Given the description of an element on the screen output the (x, y) to click on. 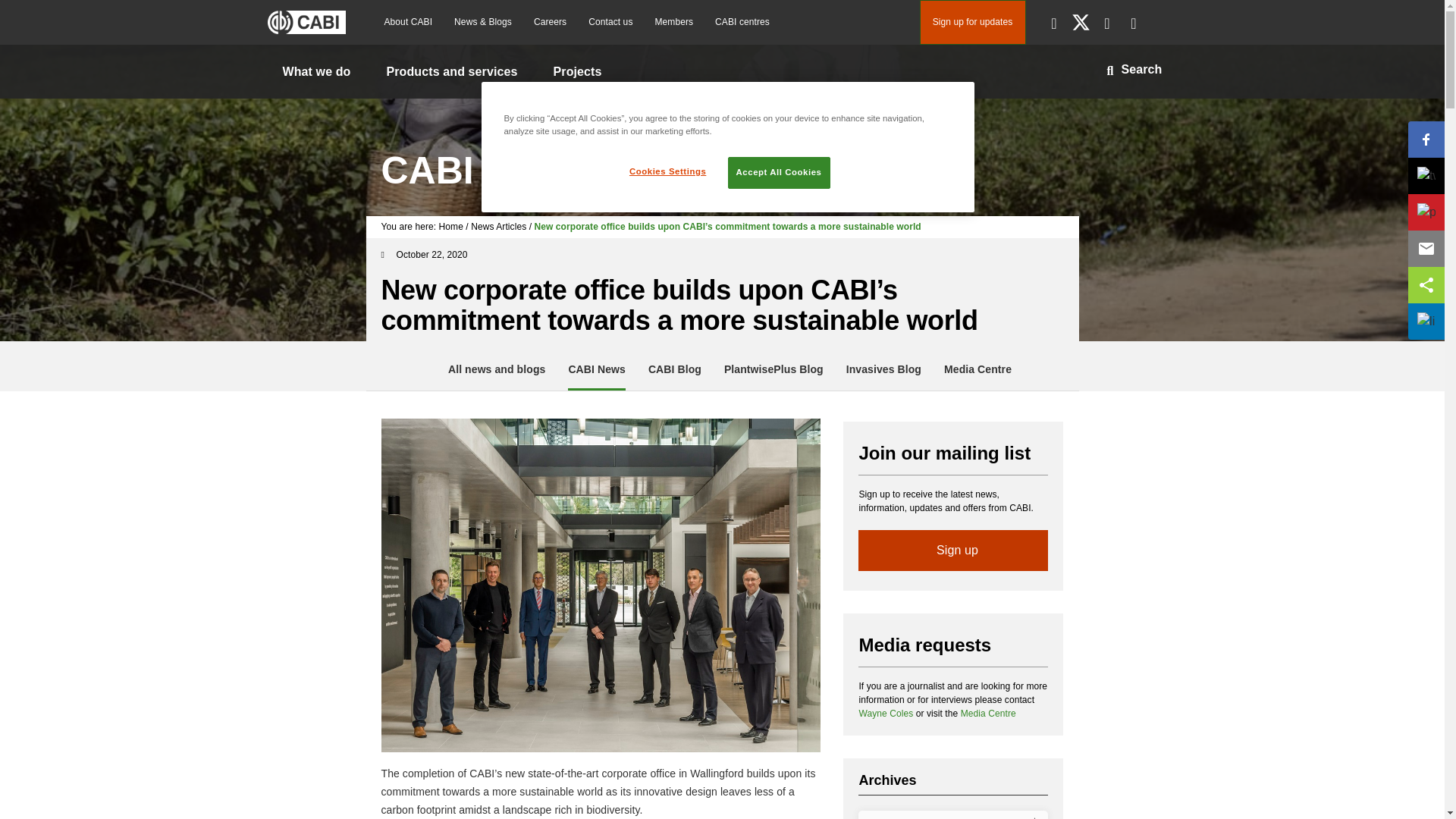
About CABI (407, 22)
Contact us (610, 22)
CABI centres (742, 22)
Careers (549, 22)
Members (673, 22)
Sign up for updates (971, 22)
